Given the description of an element on the screen output the (x, y) to click on. 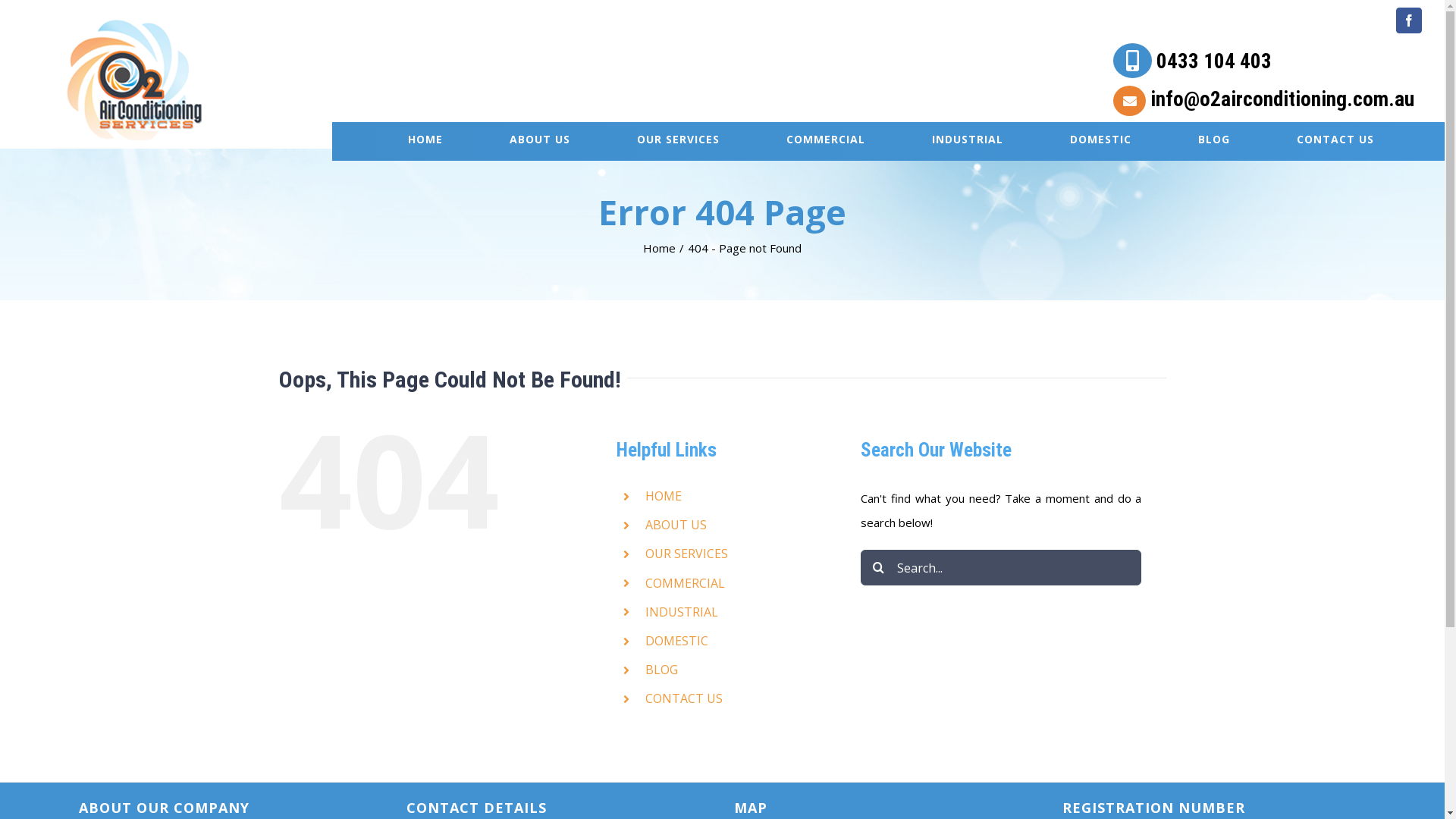
0433 104 403 Element type: text (1263, 64)
BLOG Element type: text (661, 669)
HOME Element type: text (425, 140)
INDUSTRIAL Element type: text (967, 140)
BLOG Element type: text (1214, 140)
info@o2airconditioning.com.au Element type: text (1263, 103)
OUR SERVICES Element type: text (686, 553)
CONTACT US Element type: text (1335, 140)
OUR SERVICES Element type: text (677, 140)
ABOUT US Element type: text (675, 524)
Facebook Element type: text (1408, 20)
INDUSTRIAL Element type: text (681, 611)
HOME Element type: text (663, 495)
COMMERCIAL Element type: text (825, 140)
Home Element type: text (659, 247)
DOMESTIC Element type: text (1100, 140)
ABOUT US Element type: text (539, 140)
CONTACT US Element type: text (683, 698)
COMMERCIAL Element type: text (684, 582)
DOMESTIC Element type: text (676, 640)
